Given the description of an element on the screen output the (x, y) to click on. 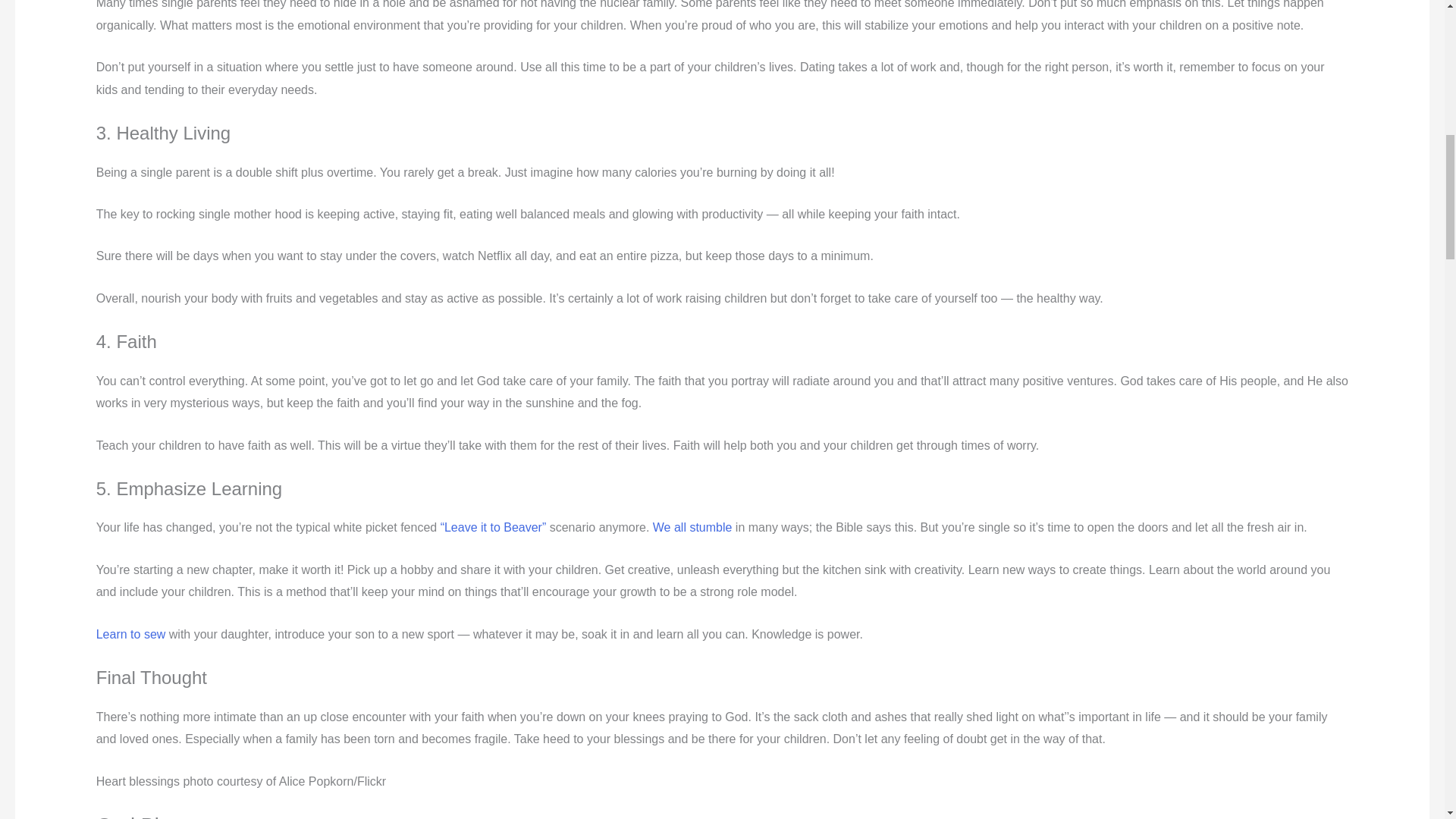
Learn to sew (130, 634)
We all stumble (692, 526)
